Given the description of an element on the screen output the (x, y) to click on. 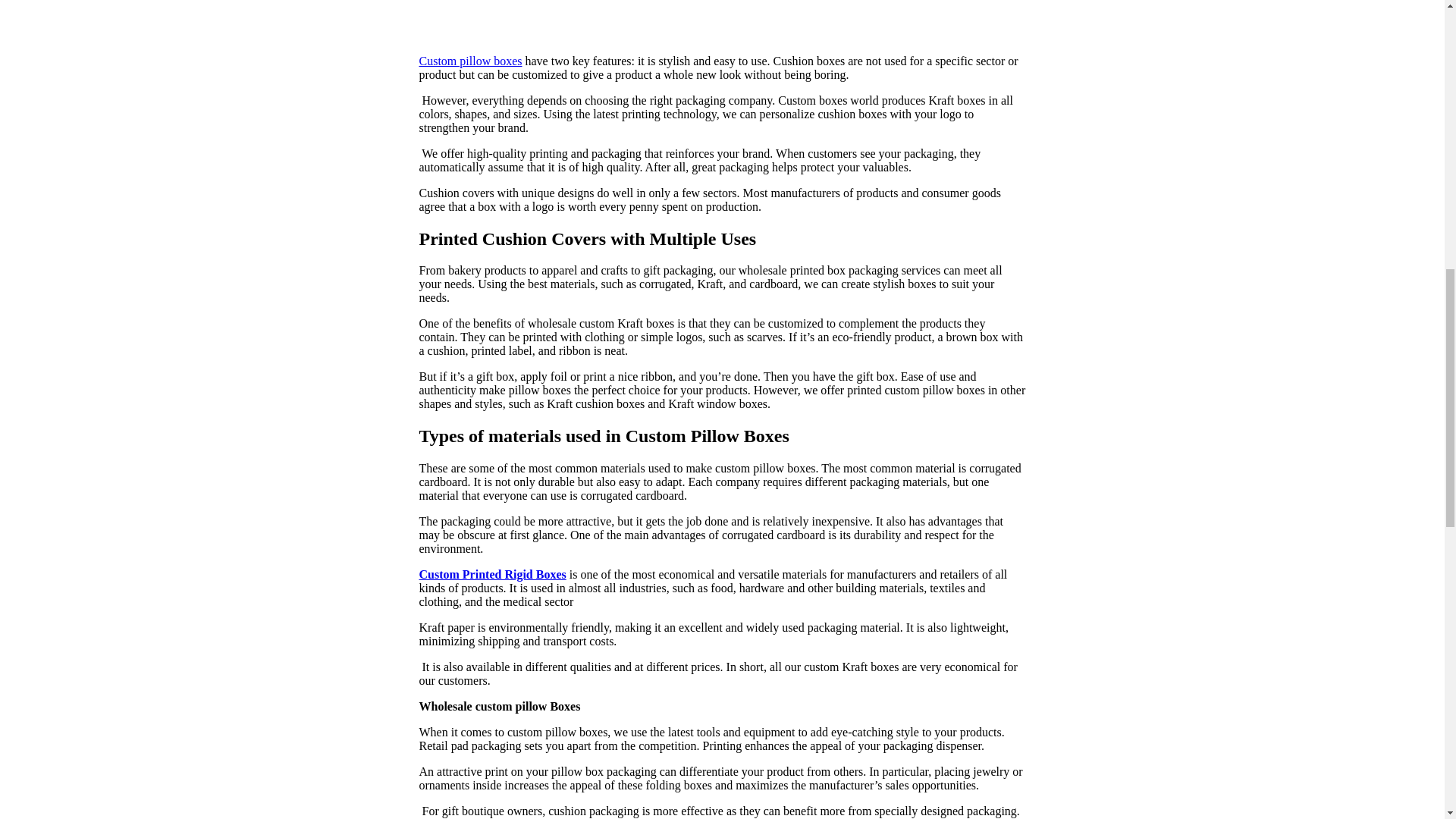
Custom Printed Rigid Boxes (492, 574)
Custom pillow boxes (470, 60)
